Given the description of an element on the screen output the (x, y) to click on. 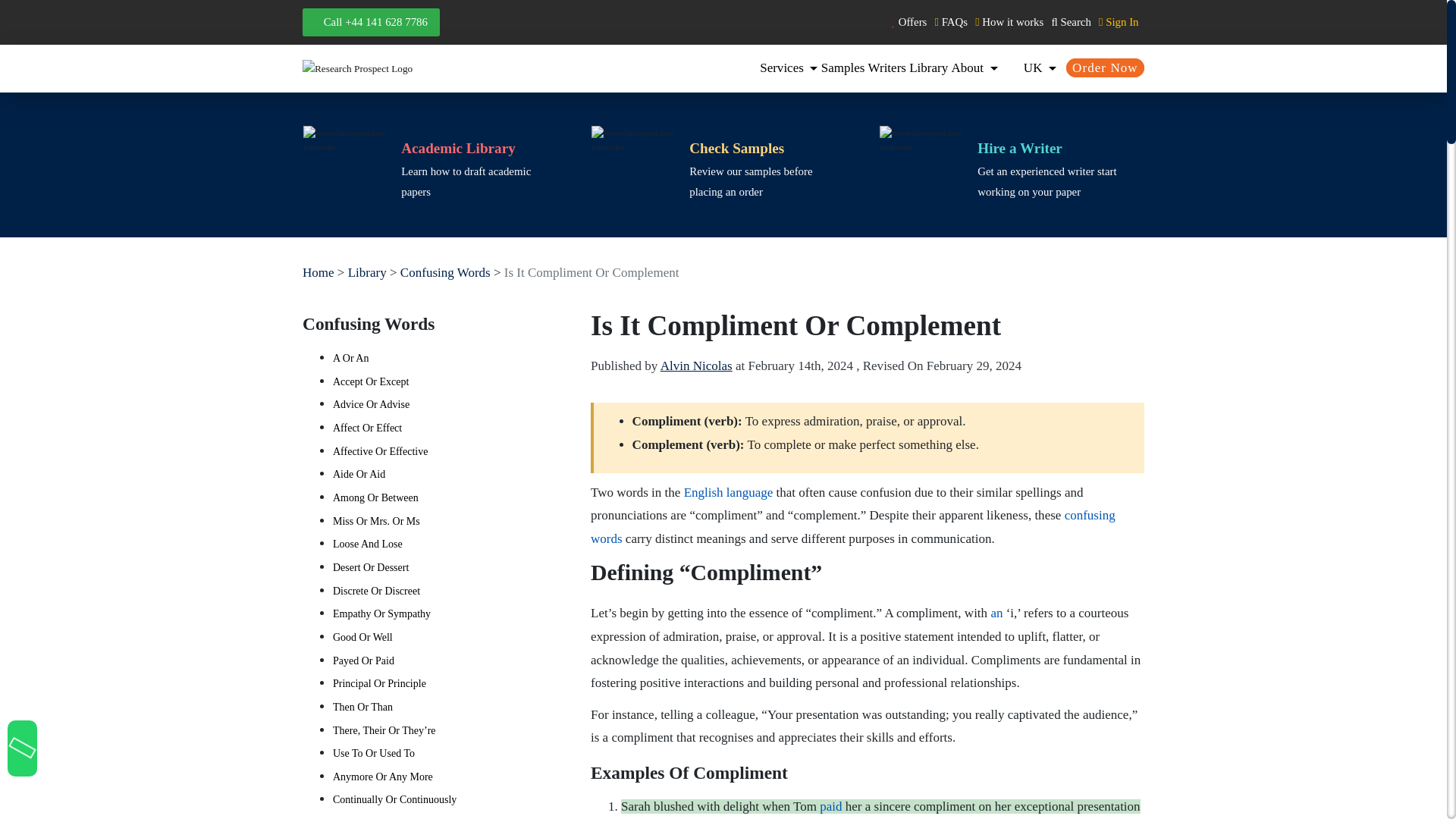
Offers (907, 21)
Offers (907, 21)
search (1069, 21)
Posts by Alvin Nicolas (696, 365)
How it works (1008, 21)
Sign In (1117, 21)
How It Works (1008, 21)
FAQs (950, 21)
Services (788, 67)
FAQs (950, 21)
